Given the description of an element on the screen output the (x, y) to click on. 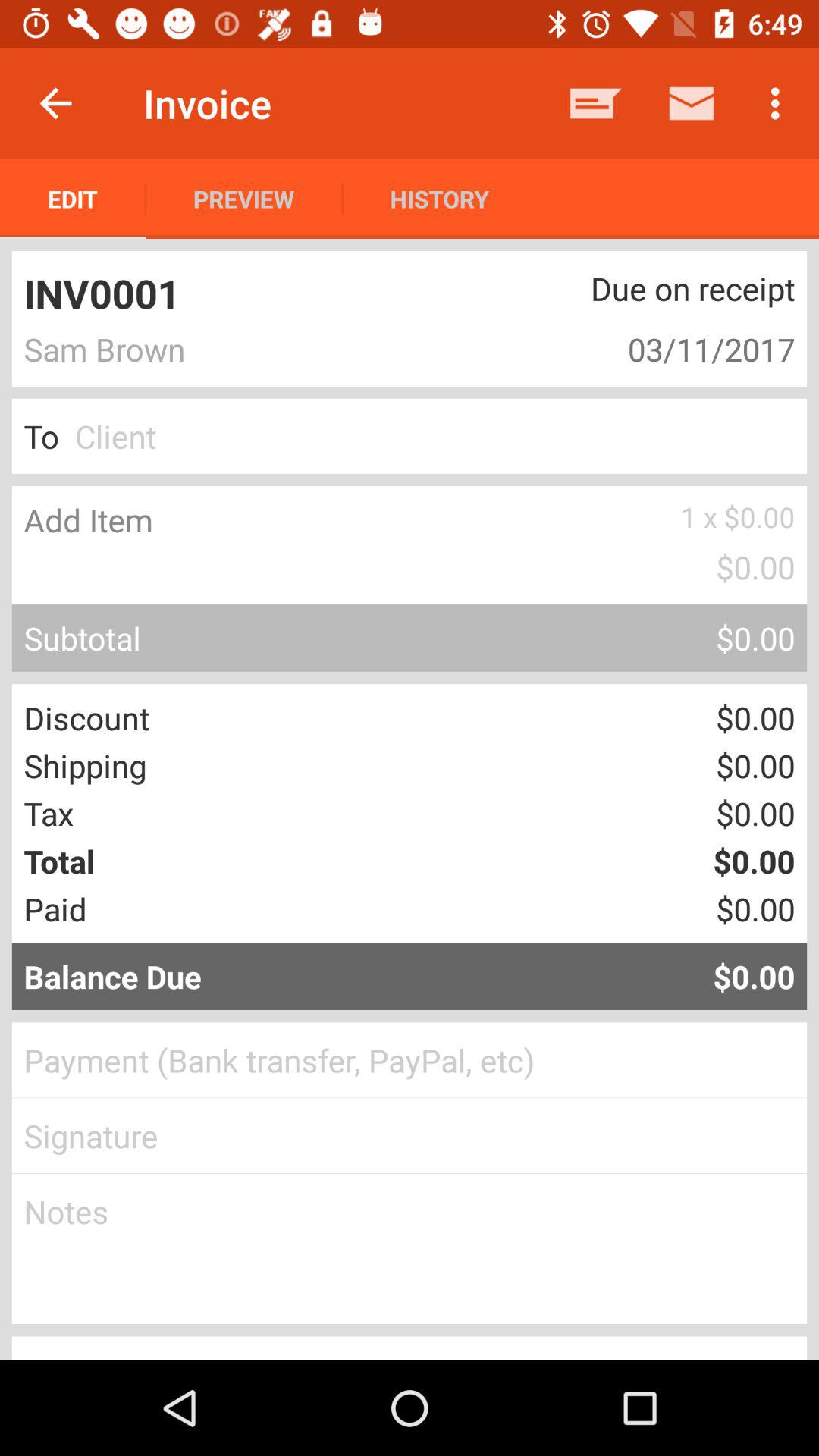
turn on app above the edit icon (55, 103)
